Given the description of an element on the screen output the (x, y) to click on. 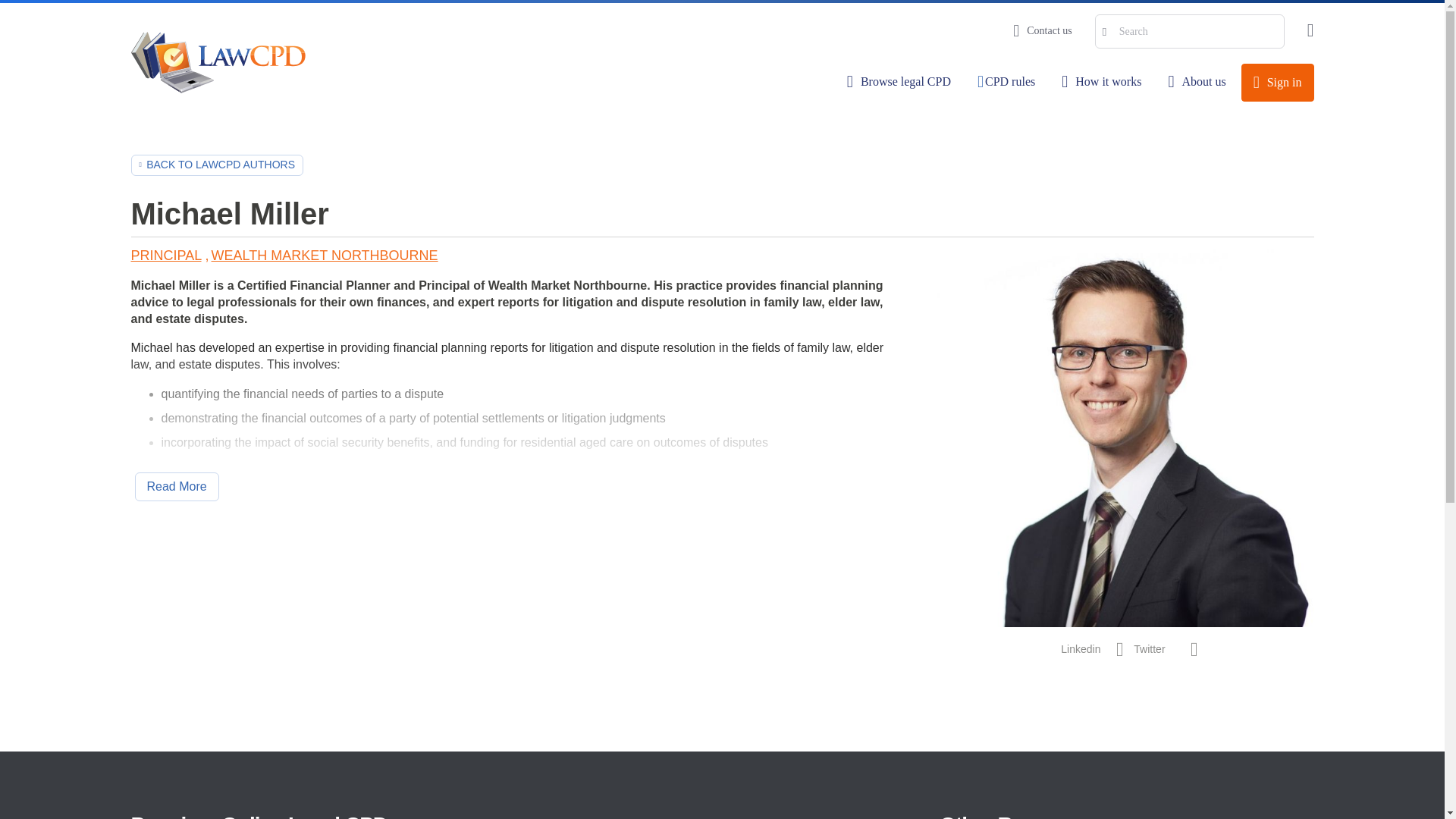
How it works (1101, 81)
Contact us (1042, 30)
Browse legal CPD (898, 81)
LawCPD.com.au Logo (217, 62)
CPD rules (1006, 81)
About us (1196, 81)
